Given the description of an element on the screen output the (x, y) to click on. 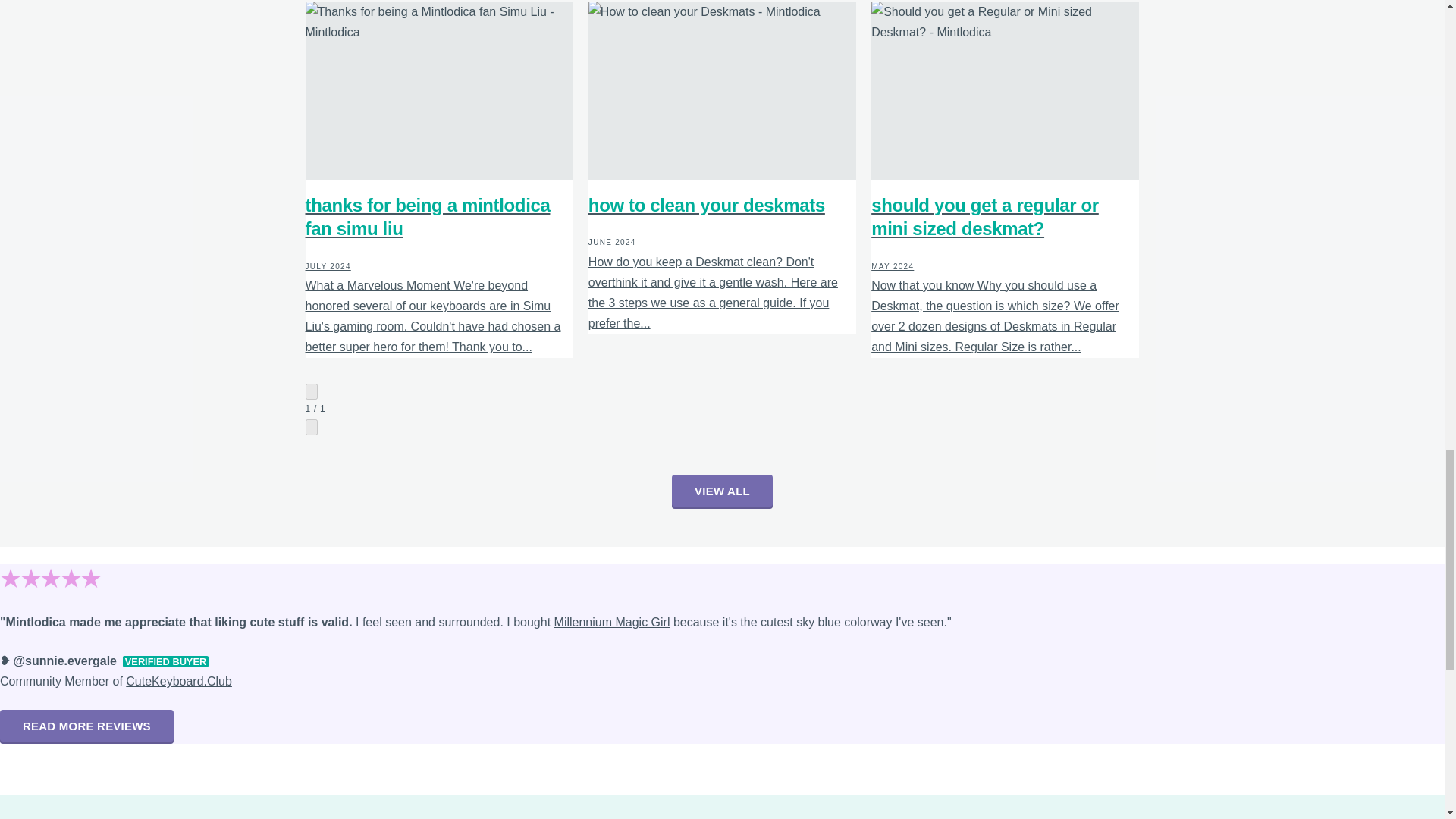
DSA Millennium Magic Girl Keycaps (611, 621)
CuteKeyboard.Club (178, 680)
